Given the description of an element on the screen output the (x, y) to click on. 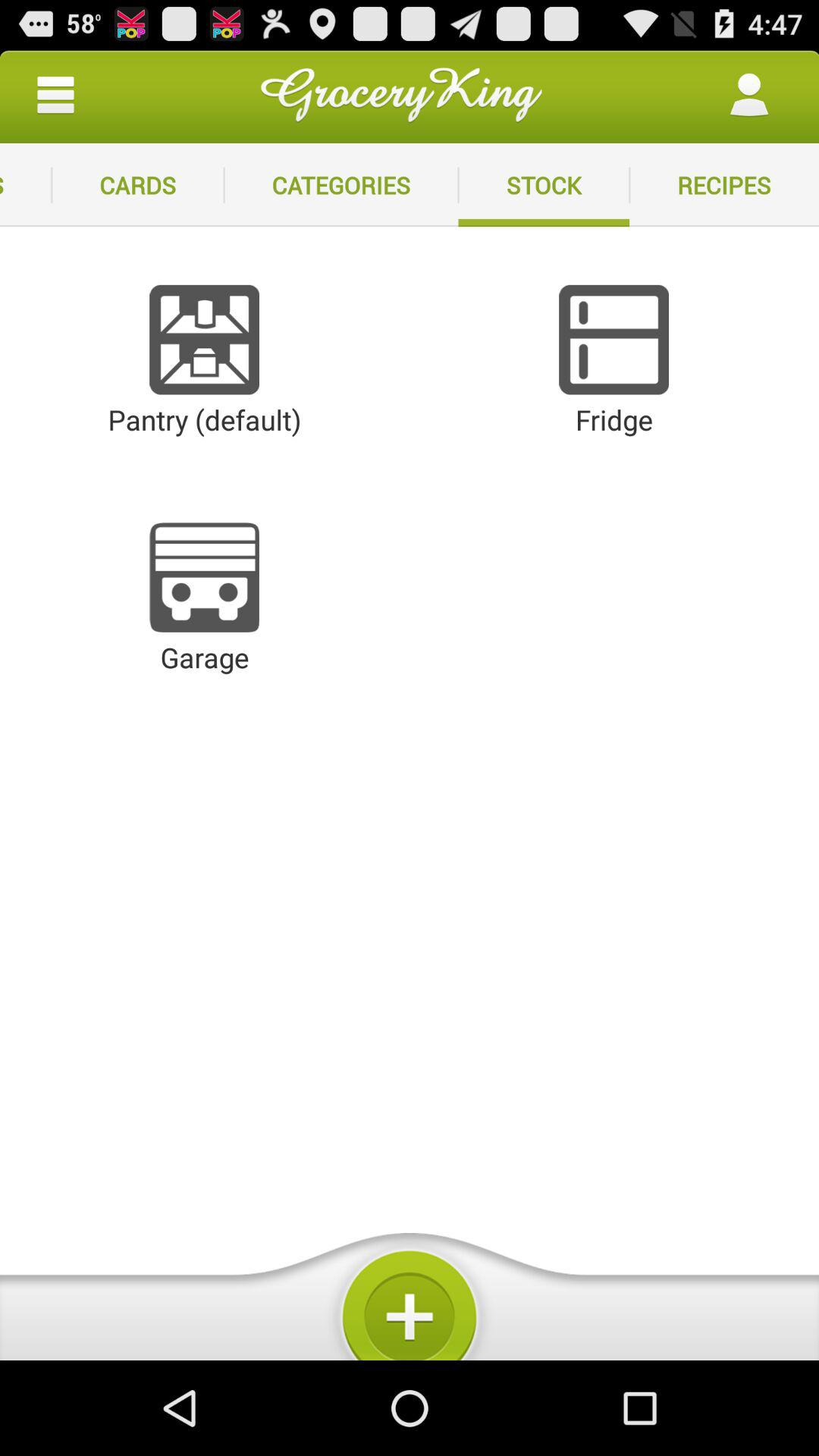
launch item to the right of the lists app (137, 184)
